Given the description of an element on the screen output the (x, y) to click on. 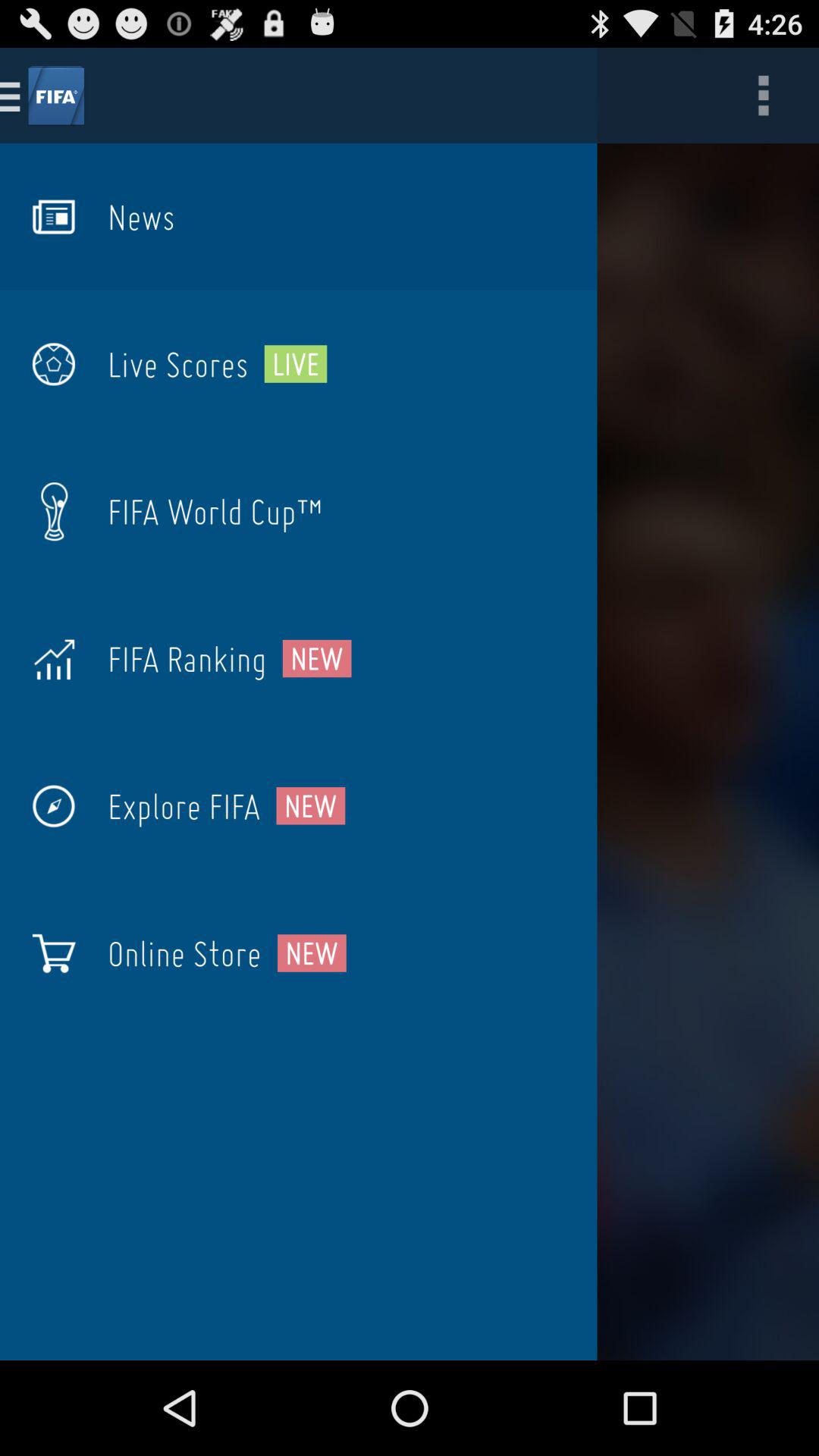
flip until the explore fifa icon (183, 805)
